Given the description of an element on the screen output the (x, y) to click on. 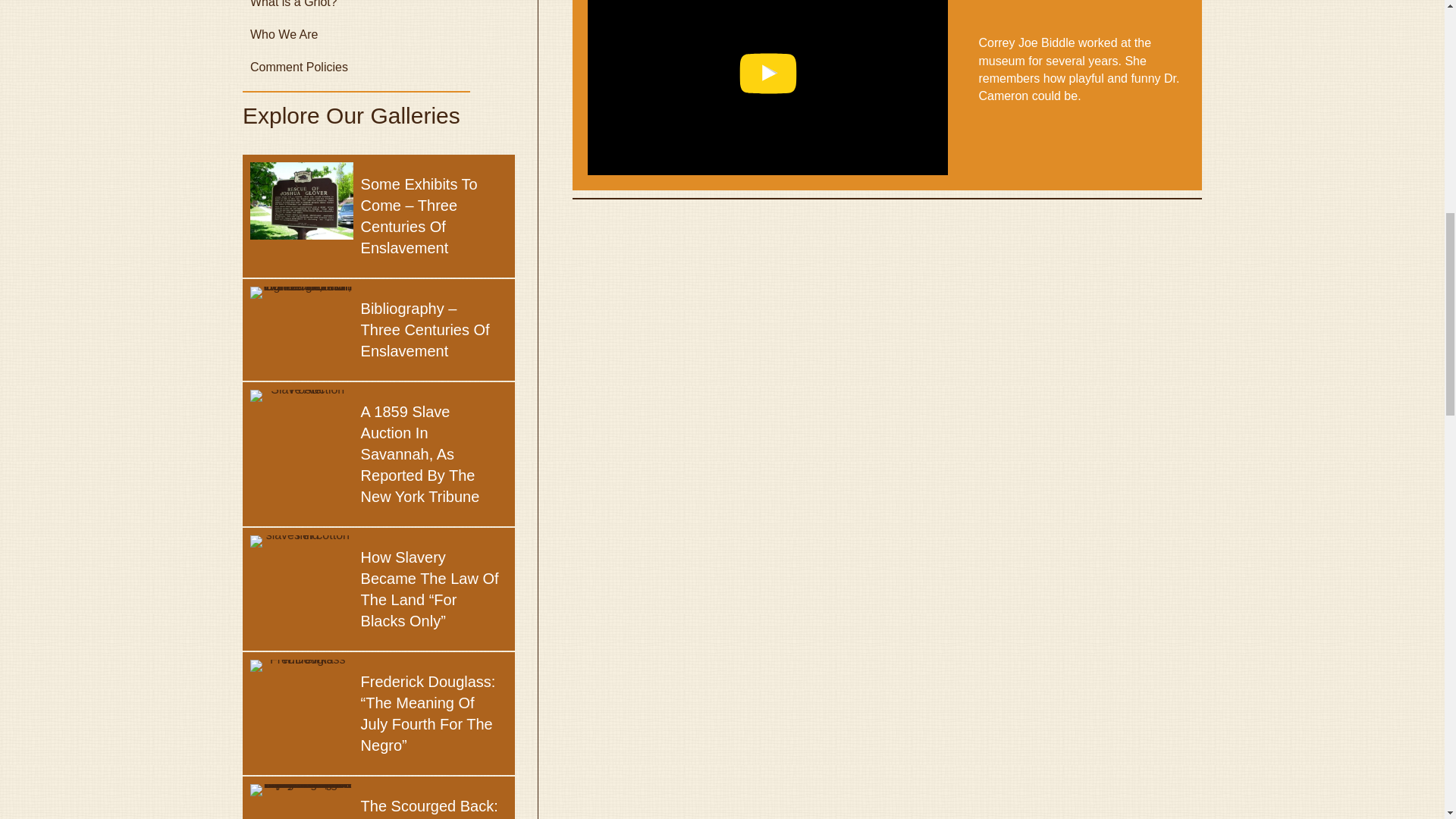
Comment Policies (379, 66)
FredDouglass w:firewks (301, 665)
slaves in cotton field (301, 541)
Who We Are (379, 34)
Slave Auction Poster (301, 395)
Joshua Glover Plaque (301, 200)
What is a Griot? (379, 9)
